Given the description of an element on the screen output the (x, y) to click on. 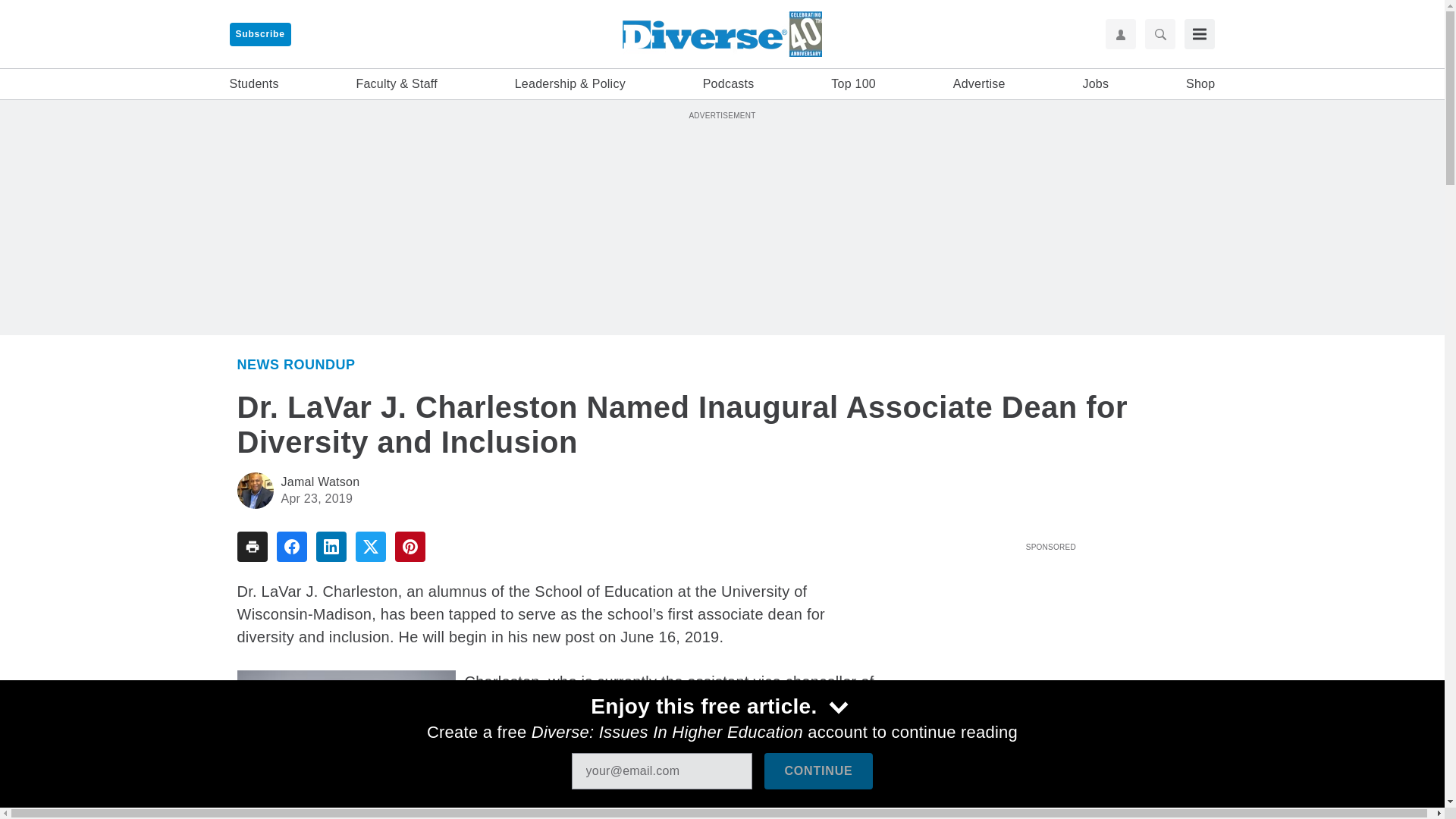
Shop (1200, 84)
Share To pinterest (409, 546)
Share To print (250, 546)
News Roundup (295, 364)
Advertise (979, 84)
Share To facebook (290, 546)
Share To linkedin (330, 546)
Jobs (1094, 84)
Subscribe (258, 33)
Top 100 (853, 84)
